Given the description of an element on the screen output the (x, y) to click on. 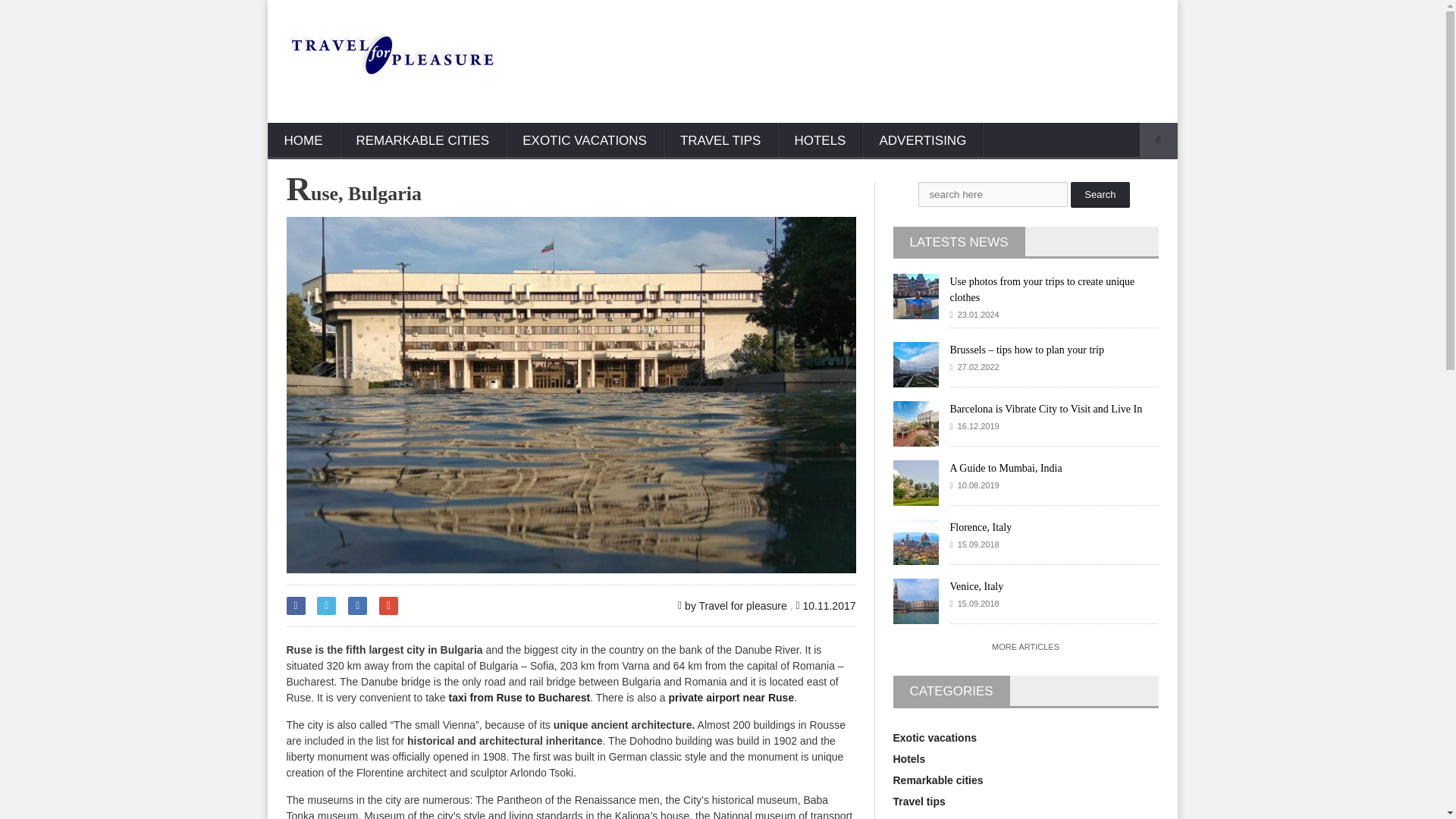
Search (1099, 194)
taxi from Ruse to Bucharest (519, 697)
HOME (302, 140)
10.11.2017 (825, 605)
TRAVEL TIPS (720, 140)
Search (1099, 194)
HOTELS (819, 140)
Advertisement (885, 53)
ADVERTISING (921, 140)
by Travel for pleasure (732, 605)
EXOTIC VACATIONS (584, 140)
Posts by Travel for pleasure (732, 605)
private airport near Ruse (730, 697)
Airport Ruse (730, 697)
REMARKABLE CITIES (422, 140)
